Given the description of an element on the screen output the (x, y) to click on. 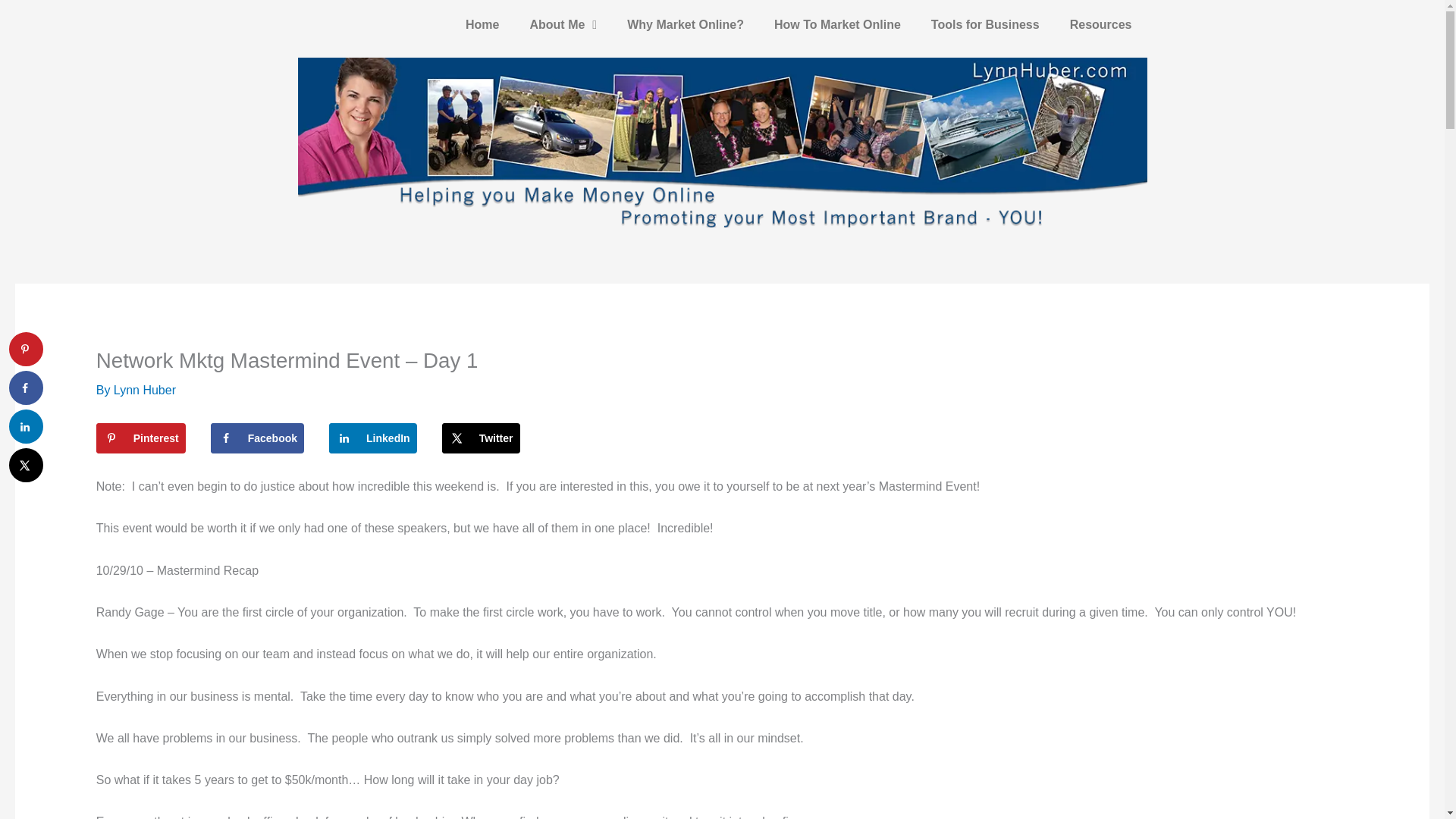
Lynn Huber (144, 390)
Facebook (257, 438)
Tools for Business (984, 24)
Why Market Online? (684, 24)
LinkedIn (372, 438)
Pinterest (141, 438)
Save to Pinterest (141, 438)
Save to Pinterest (25, 349)
About Me (562, 24)
Share on Facebook (257, 438)
How To Market Online (836, 24)
Resources (1100, 24)
Share on X (480, 438)
Home (481, 24)
View all posts by Lynn Huber (144, 390)
